Given the description of an element on the screen output the (x, y) to click on. 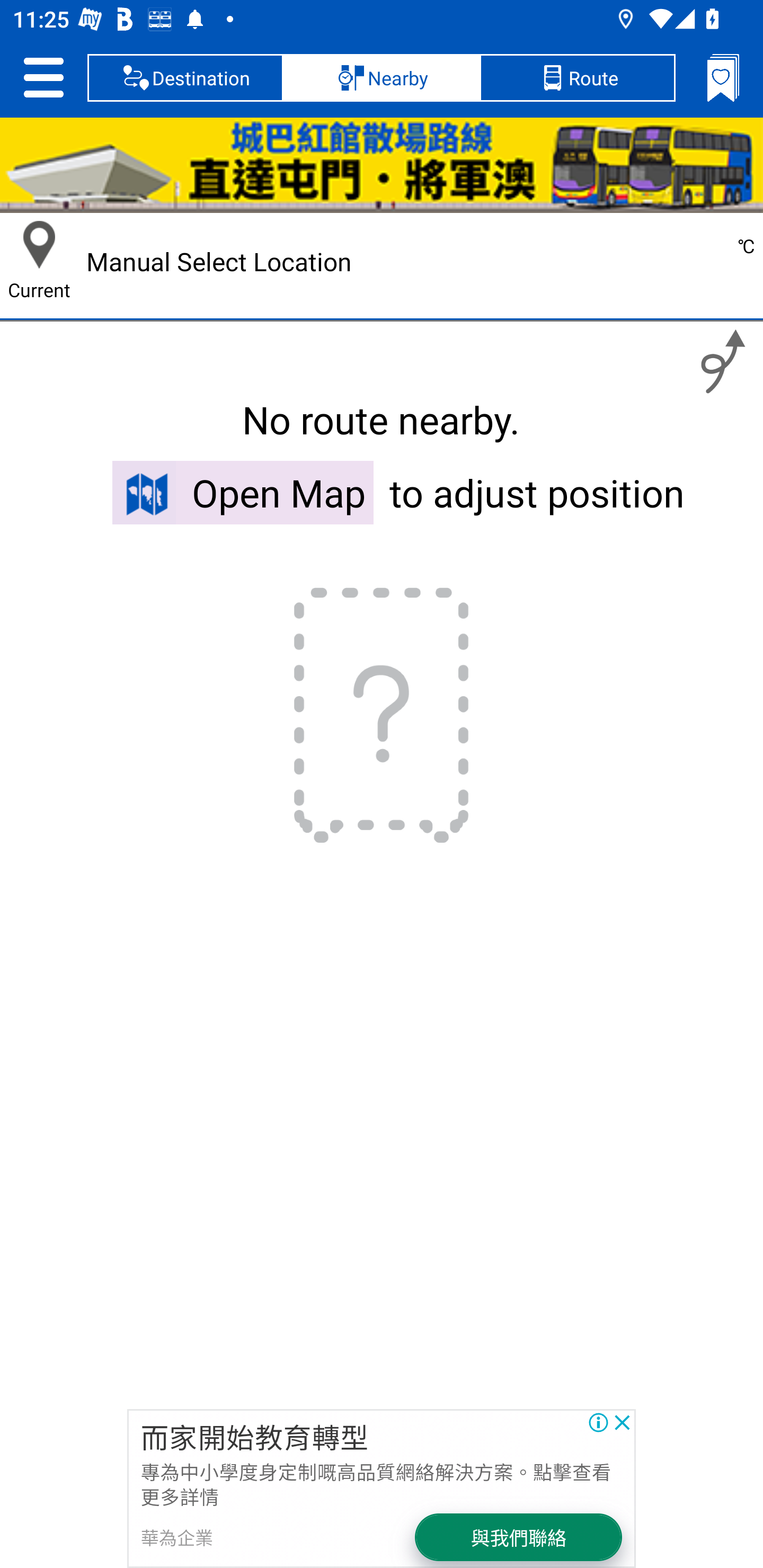
Destination (185, 77)
Nearby, selected (381, 77)
Route (577, 77)
Bookmarks (723, 77)
Setting (43, 77)
HKC (381, 165)
Current Location Current Manual Select Location ℃ (381, 261)
Current Location (38, 244)
℃ (683, 261)
Open Map (242, 491)
而家開始教育轉型 (254, 1435)
與我們聯絡 (519, 1537)
華為企業 (176, 1537)
